Given the description of an element on the screen output the (x, y) to click on. 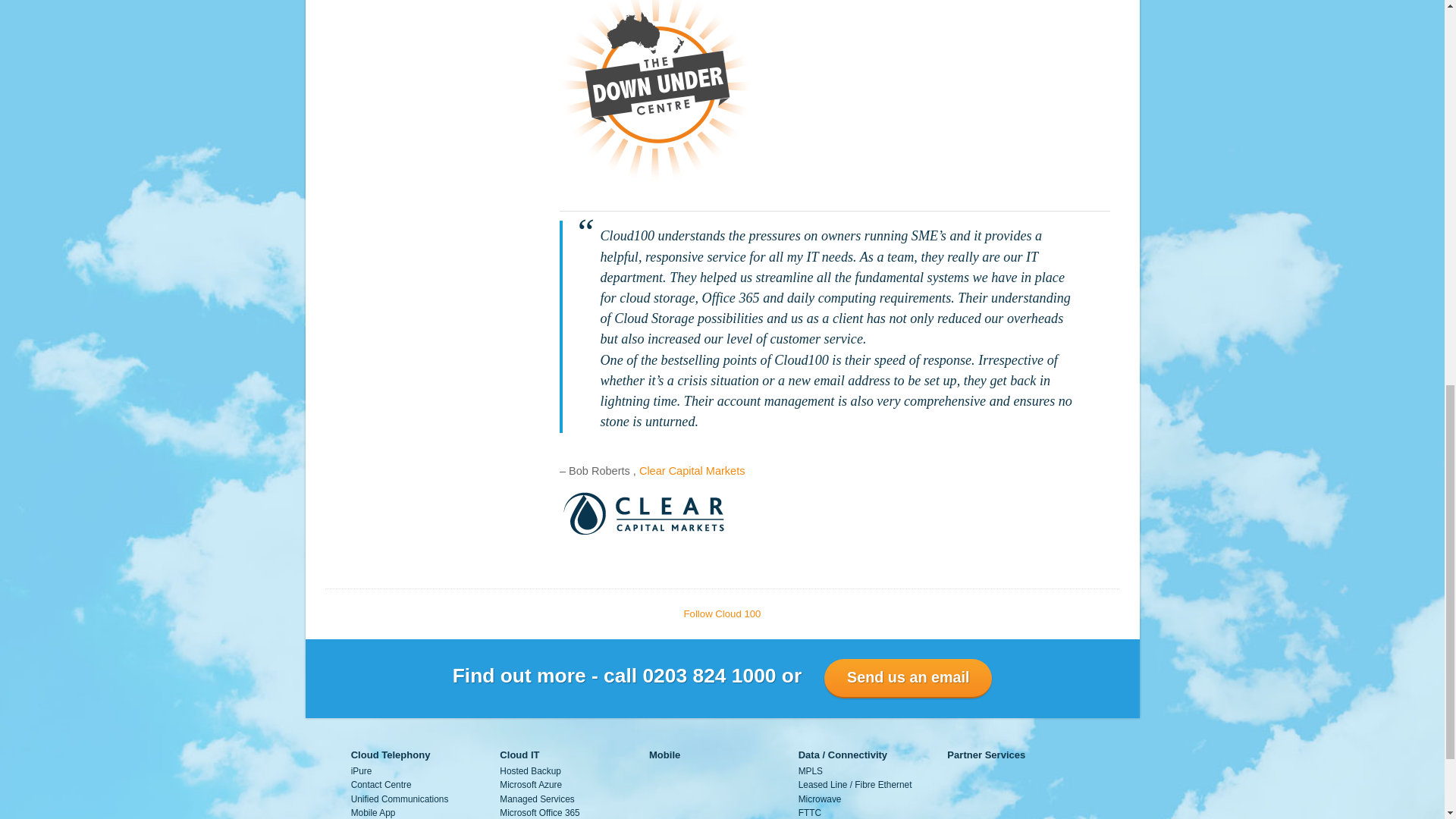
Mobile App (373, 812)
Cloud IT (518, 754)
Clear Capital Markets (692, 470)
Microsoft Office 365 (539, 812)
Hosted Backup (529, 770)
Microsoft Azure (530, 784)
Send us an email (907, 678)
Contact Centre (381, 784)
MPLS (809, 770)
iPure (361, 770)
Cloud Telephony (390, 754)
Follow Cloud 100 (722, 613)
Unified Communications (399, 798)
Mobile (664, 754)
Managed Services (536, 798)
